Given the description of an element on the screen output the (x, y) to click on. 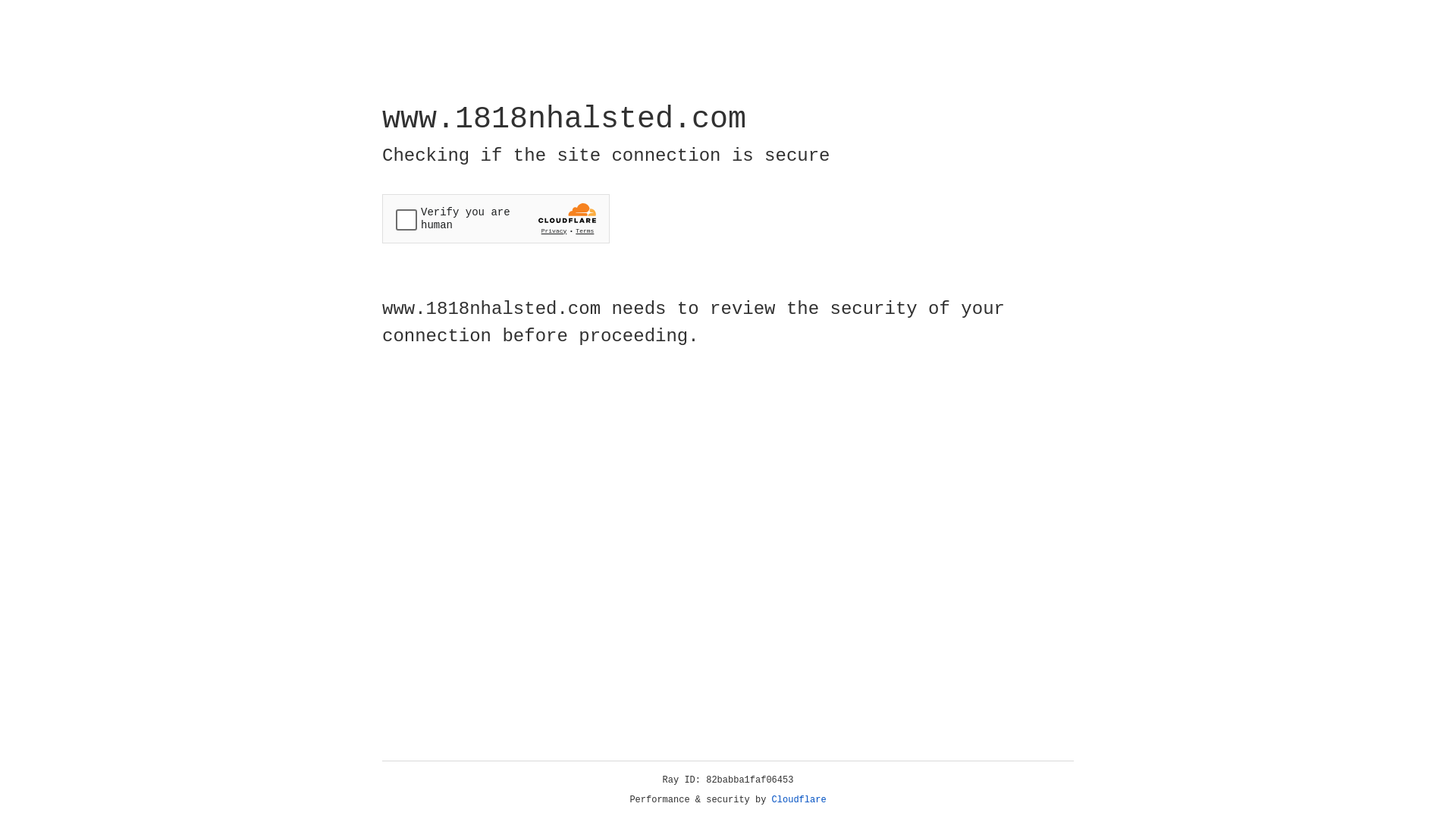
Cloudflare Element type: text (798, 799)
Widget containing a Cloudflare security challenge Element type: hover (495, 218)
